Given the description of an element on the screen output the (x, y) to click on. 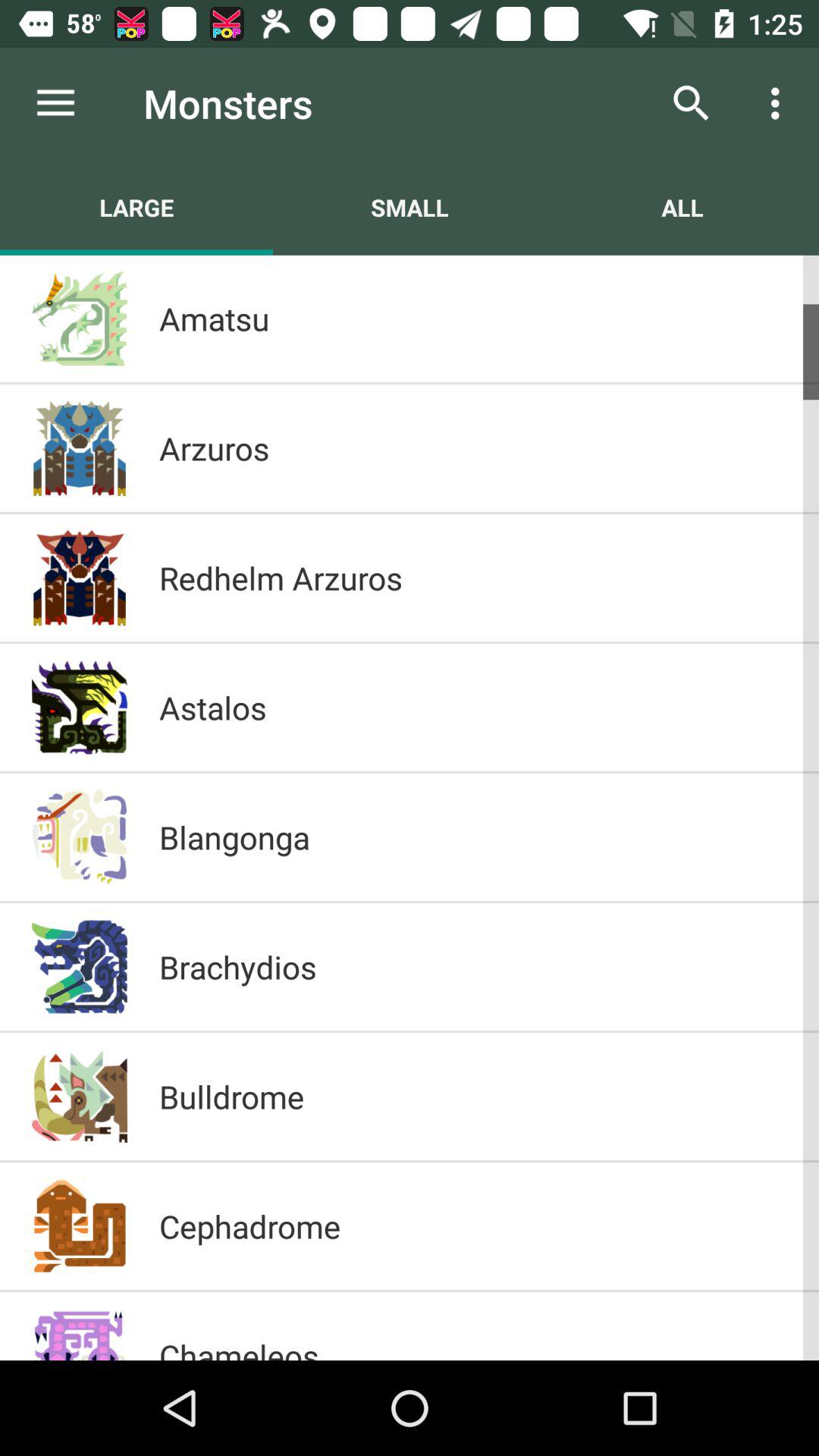
tap amatsu icon (473, 318)
